Given the description of an element on the screen output the (x, y) to click on. 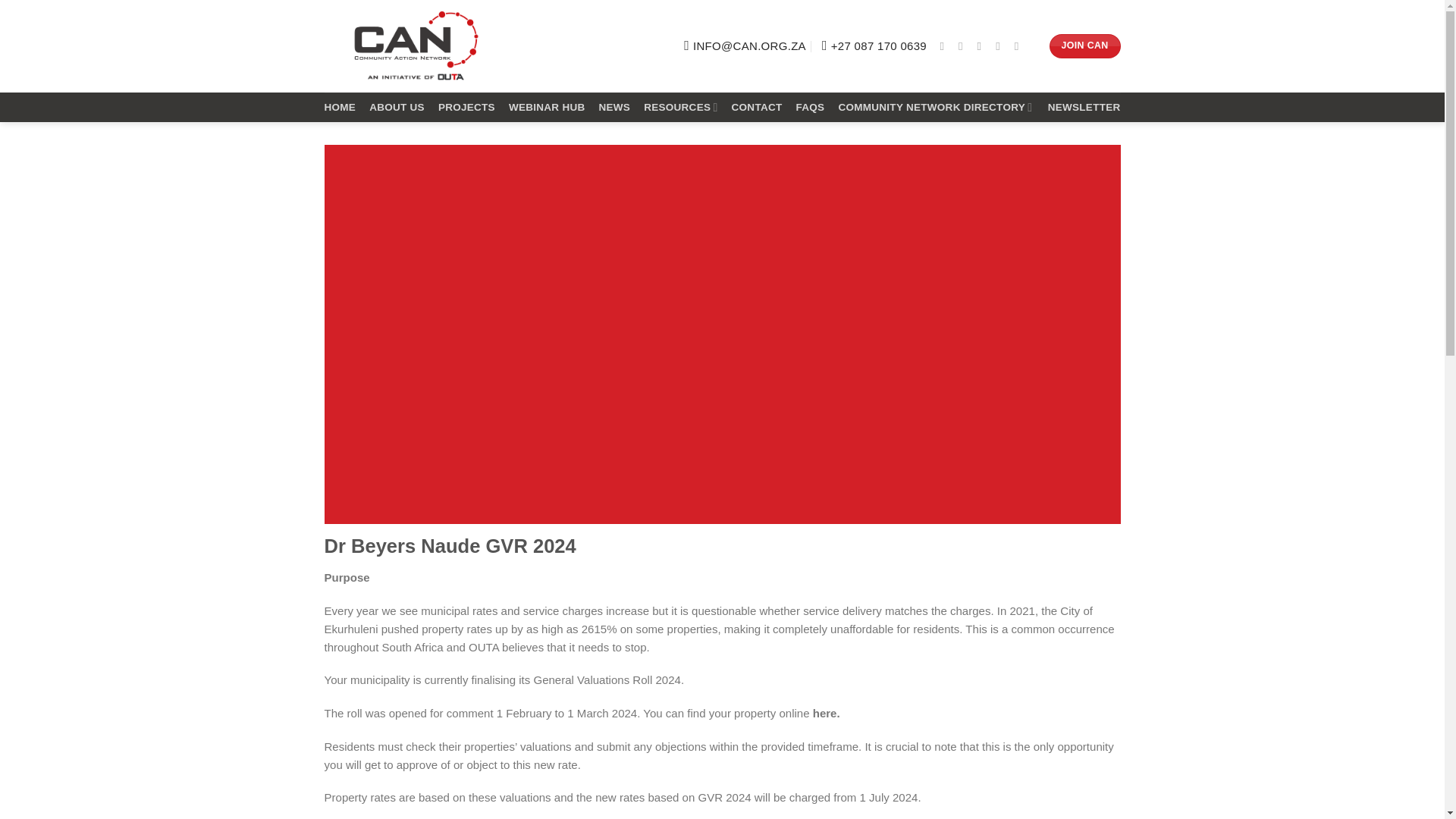
HOME (340, 107)
NEWSLETTER (1084, 107)
PROJECTS (466, 107)
ABOUT US (397, 107)
RESOURCES (680, 107)
JOIN CAN (1085, 46)
CONTACT (757, 107)
Community Action Network - CAN (415, 46)
Sign up for Newsletter (1084, 107)
NEWS (614, 107)
